Given the description of an element on the screen output the (x, y) to click on. 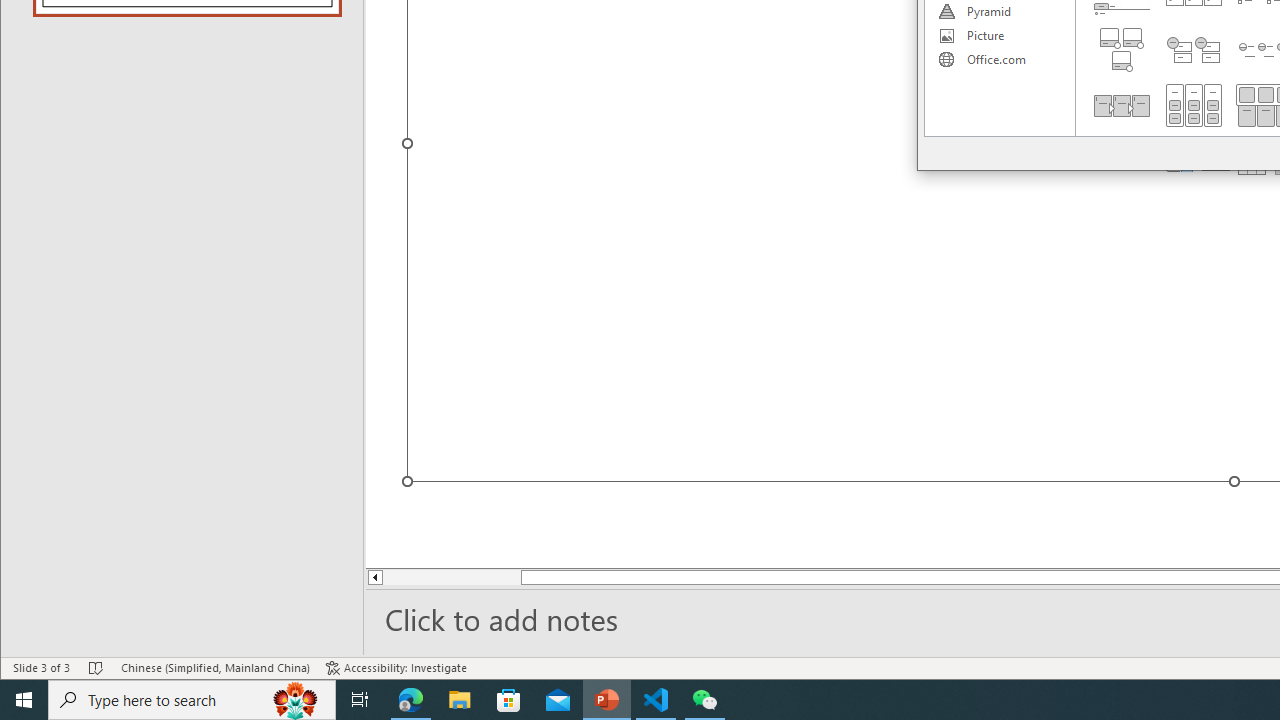
Stacked List (1194, 49)
WeChat - 1 running window (704, 699)
Detailed Process (1121, 105)
